Given the description of an element on the screen output the (x, y) to click on. 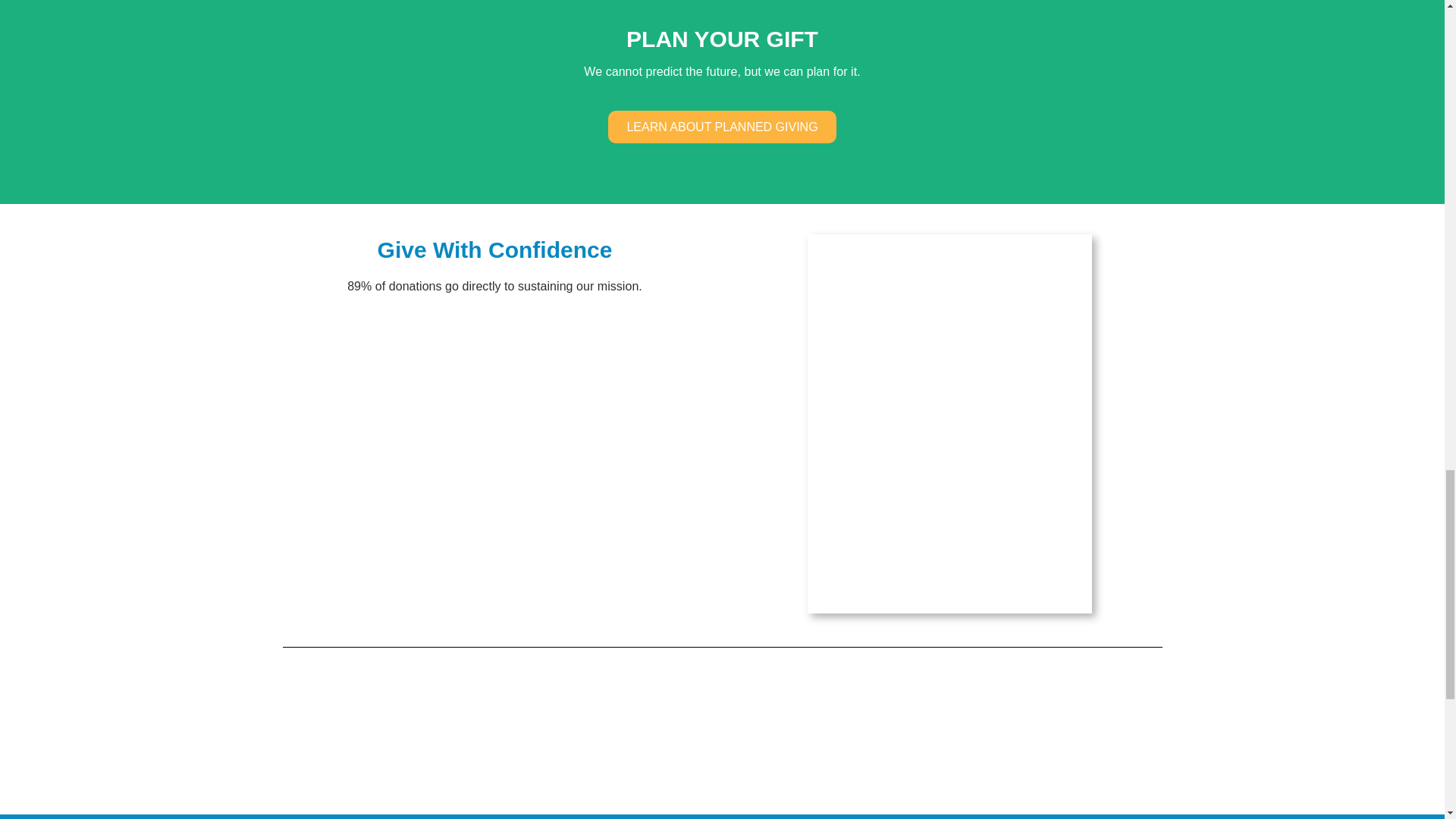
IMG 0593 (950, 423)
